Given the description of an element on the screen output the (x, y) to click on. 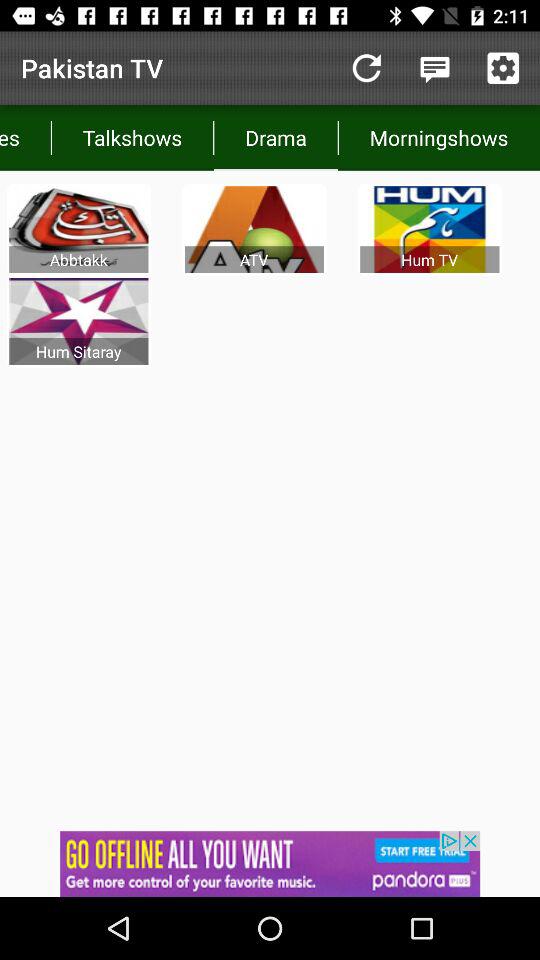
click bottom advertisement (270, 864)
